Given the description of an element on the screen output the (x, y) to click on. 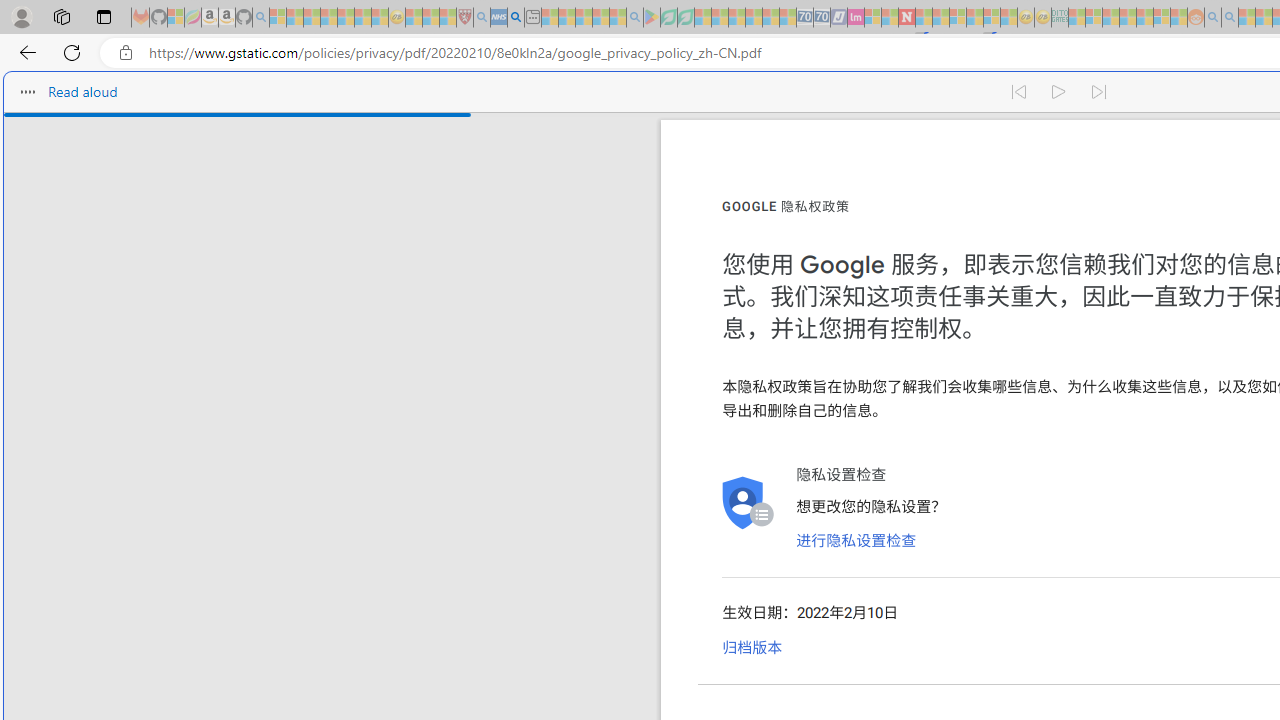
Latest Politics News & Archive | Newsweek.com - Sleeping (906, 17)
Continue to read aloud (Ctrl+Shift+U) (1059, 92)
